Given the description of an element on the screen output the (x, y) to click on. 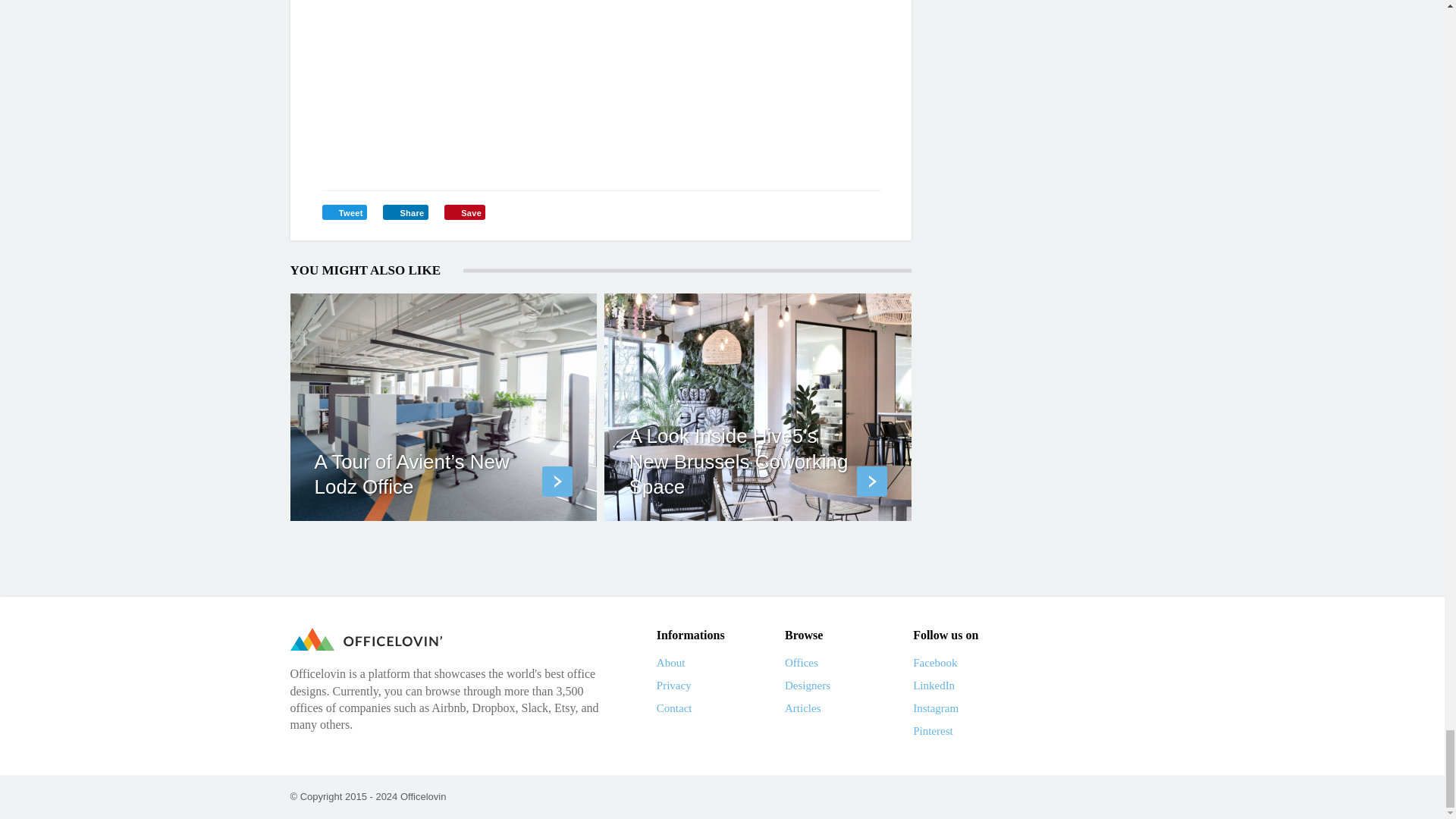
Share link on Twitter (343, 212)
